Given the description of an element on the screen output the (x, y) to click on. 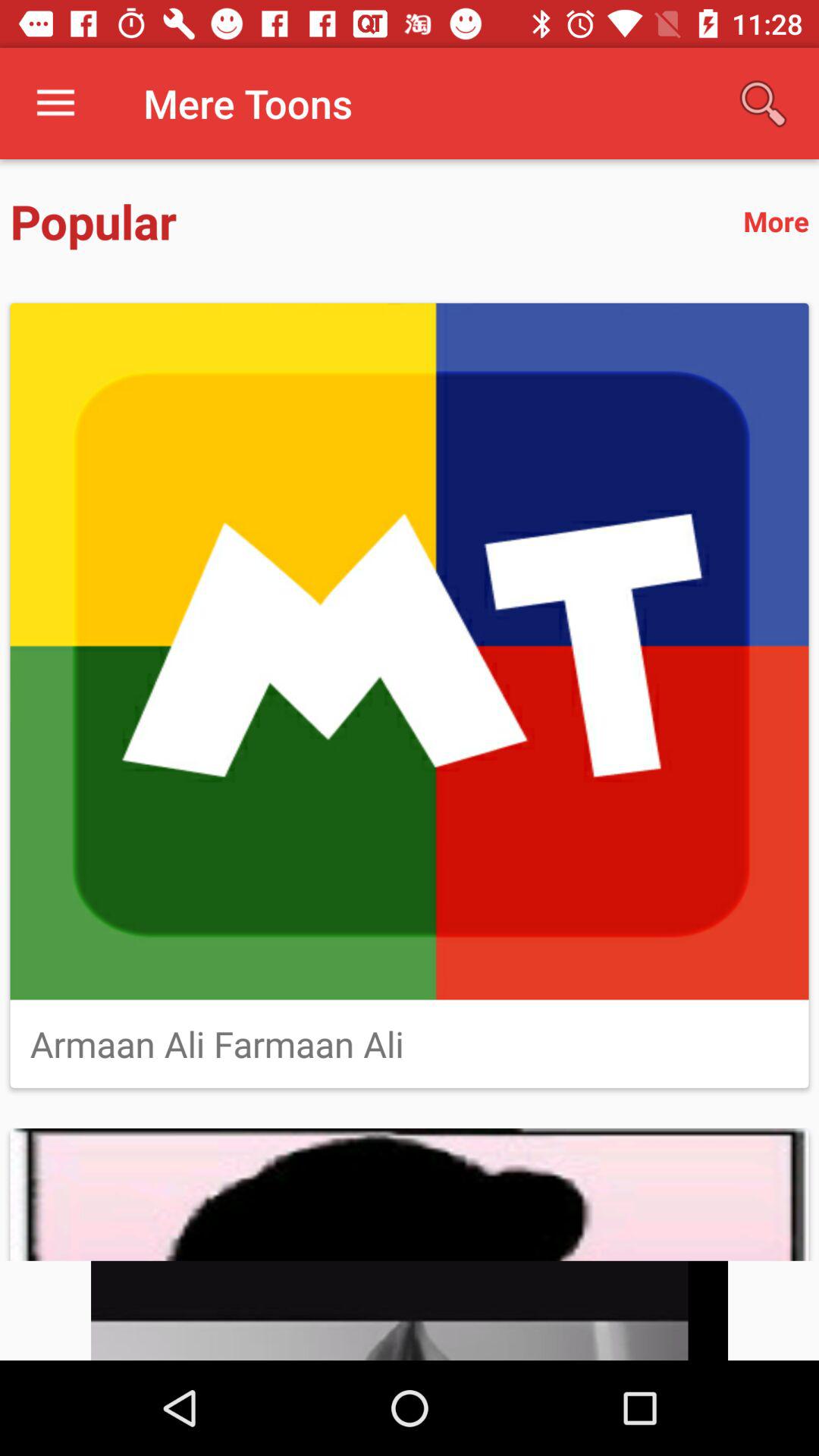
turn off the icon above more (763, 103)
